Given the description of an element on the screen output the (x, y) to click on. 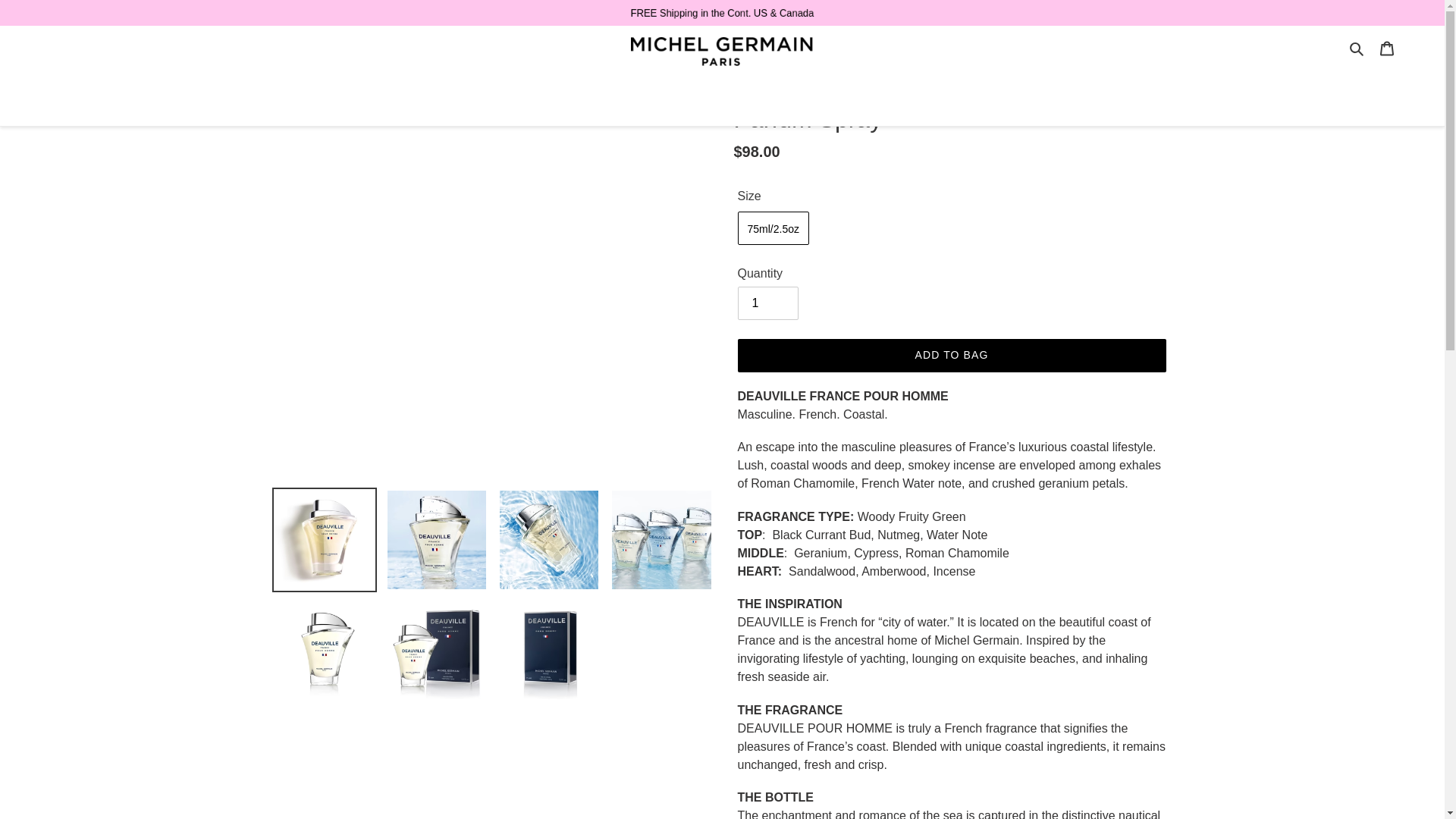
Cart (1387, 47)
Search (1357, 47)
1 (766, 303)
